Given the description of an element on the screen output the (x, y) to click on. 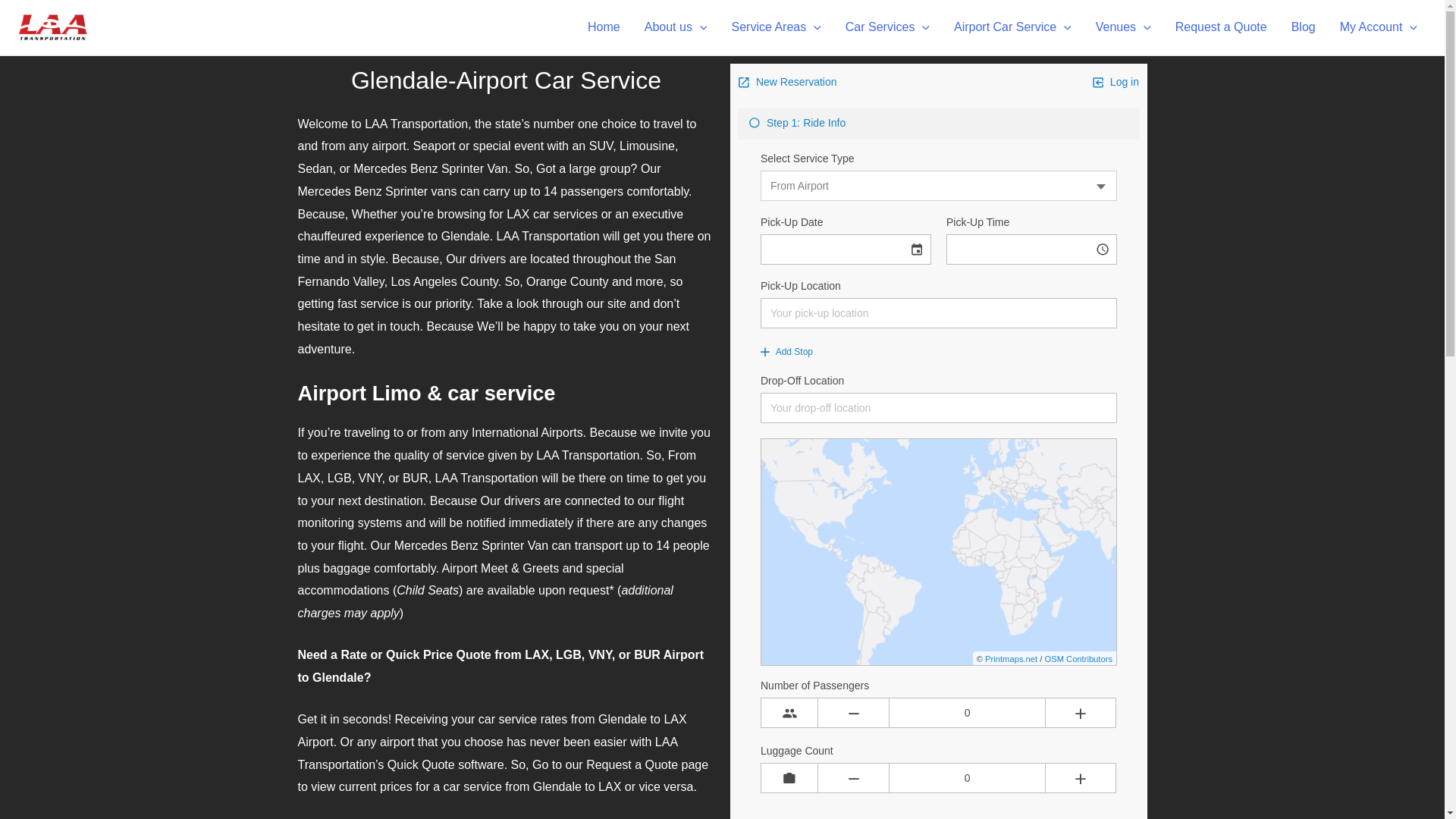
Service Areas (775, 27)
About us (675, 27)
Home (603, 27)
